Given the description of an element on the screen output the (x, y) to click on. 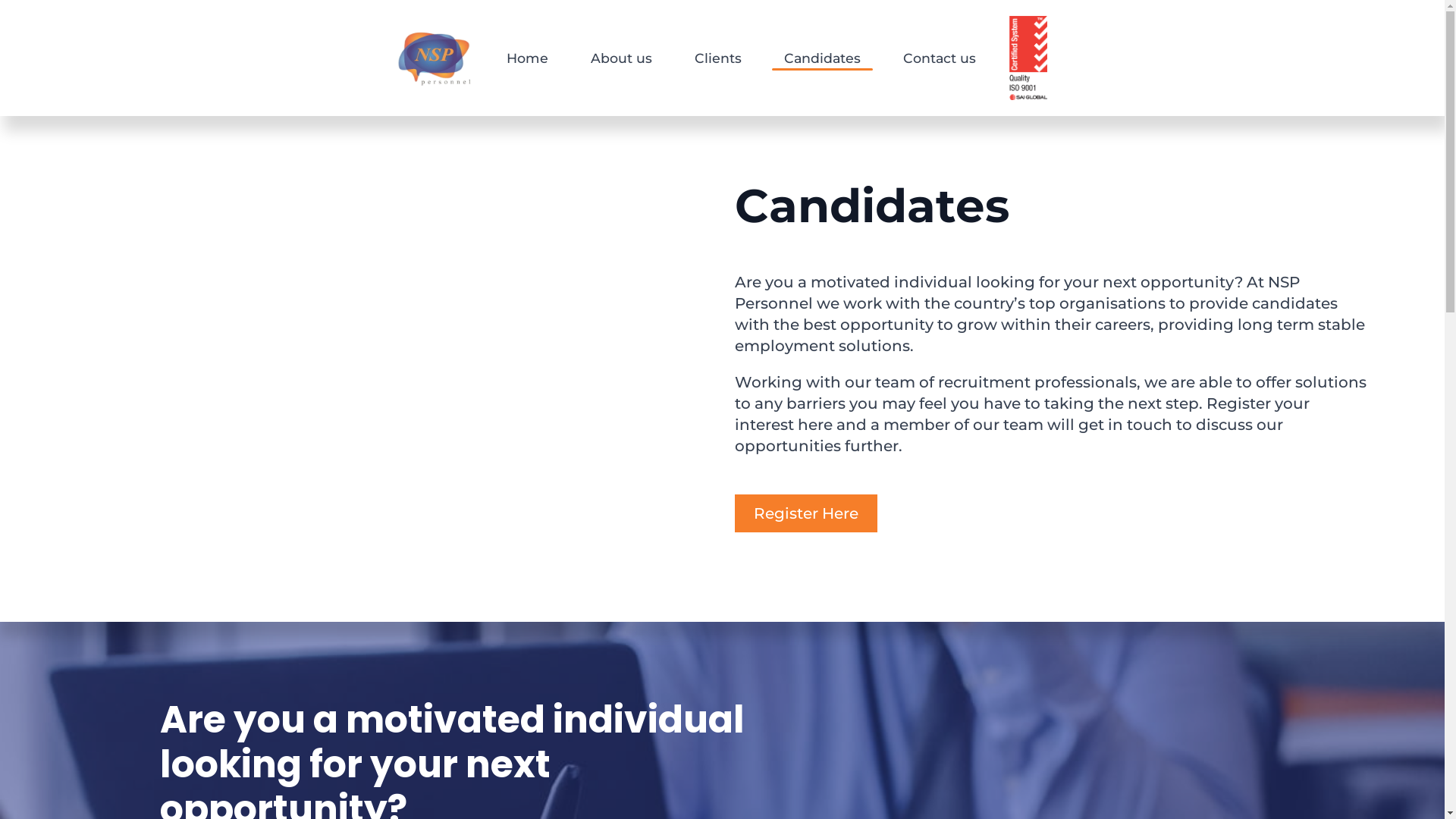
Home Element type: text (527, 58)
Candidates Element type: text (821, 58)
Clients Element type: text (717, 58)
Register Here Element type: text (805, 513)
Contact us Element type: text (939, 58)
About us Element type: text (621, 58)
